Given the description of an element on the screen output the (x, y) to click on. 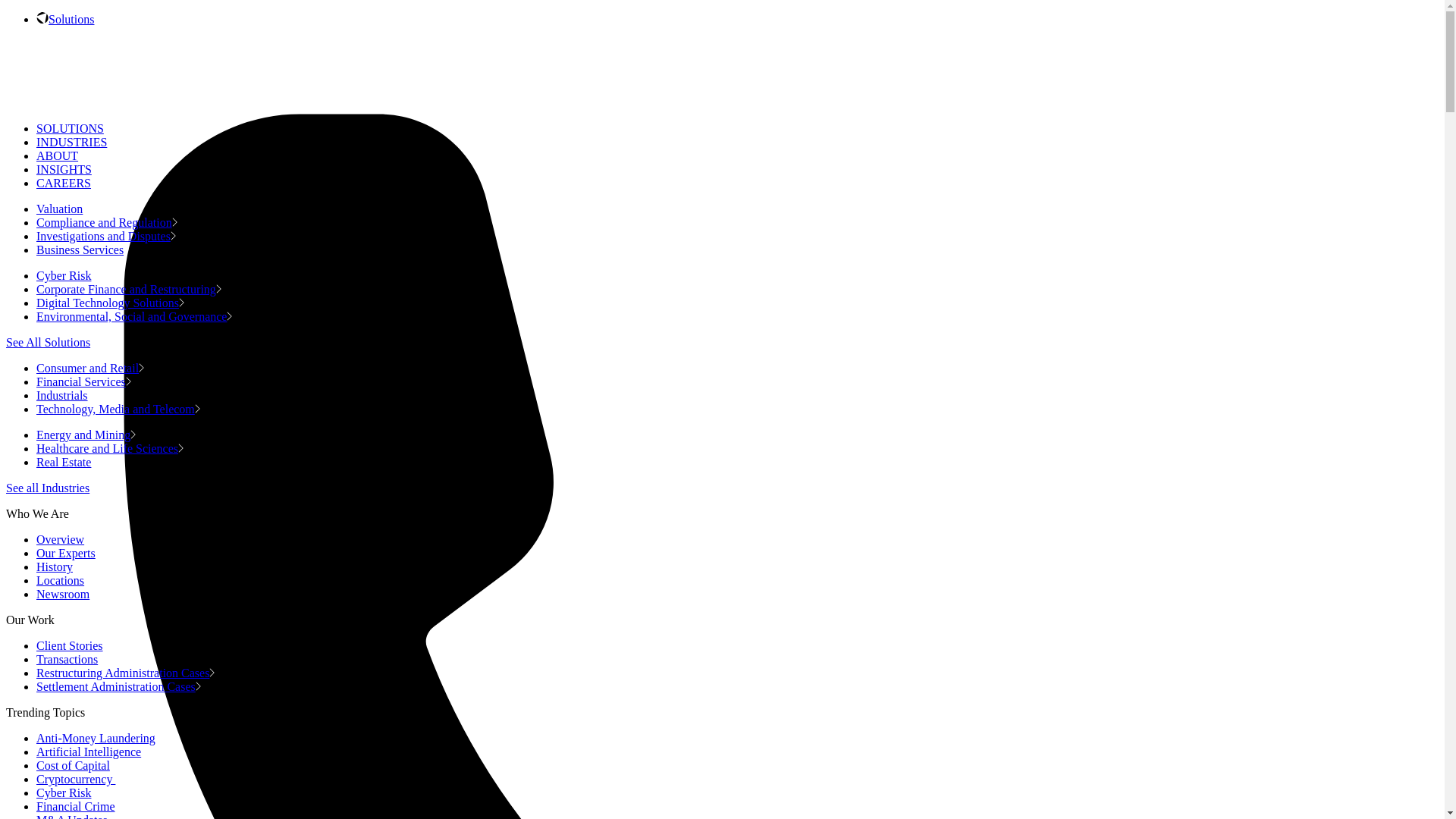
See All Solutions (47, 341)
CAREERS (63, 182)
INSIGHTS (63, 169)
Industrials (64, 395)
Valuation (61, 208)
Digital Technology Solutions (110, 302)
INDUSTRIES (71, 141)
Consumer and Retail (90, 367)
Cyber Risk (66, 275)
SOLUTIONS (69, 128)
Energy and Mining (85, 434)
ABOUT (57, 155)
Business Services (82, 249)
Corporate Finance and Restructuring (128, 288)
Our Capabilities (71, 19)
